Given the description of an element on the screen output the (x, y) to click on. 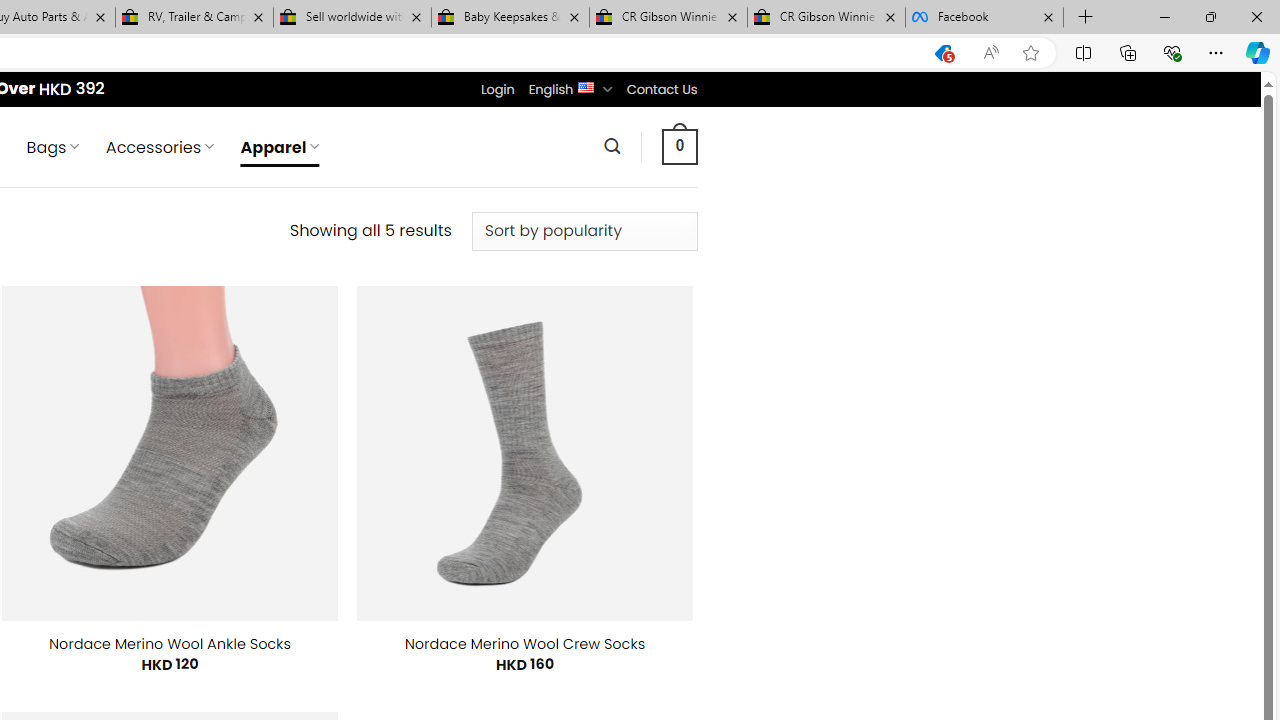
 0  (679, 146)
Nordace Merino Wool Ankle Socks (169, 643)
